Given the description of an element on the screen output the (x, y) to click on. 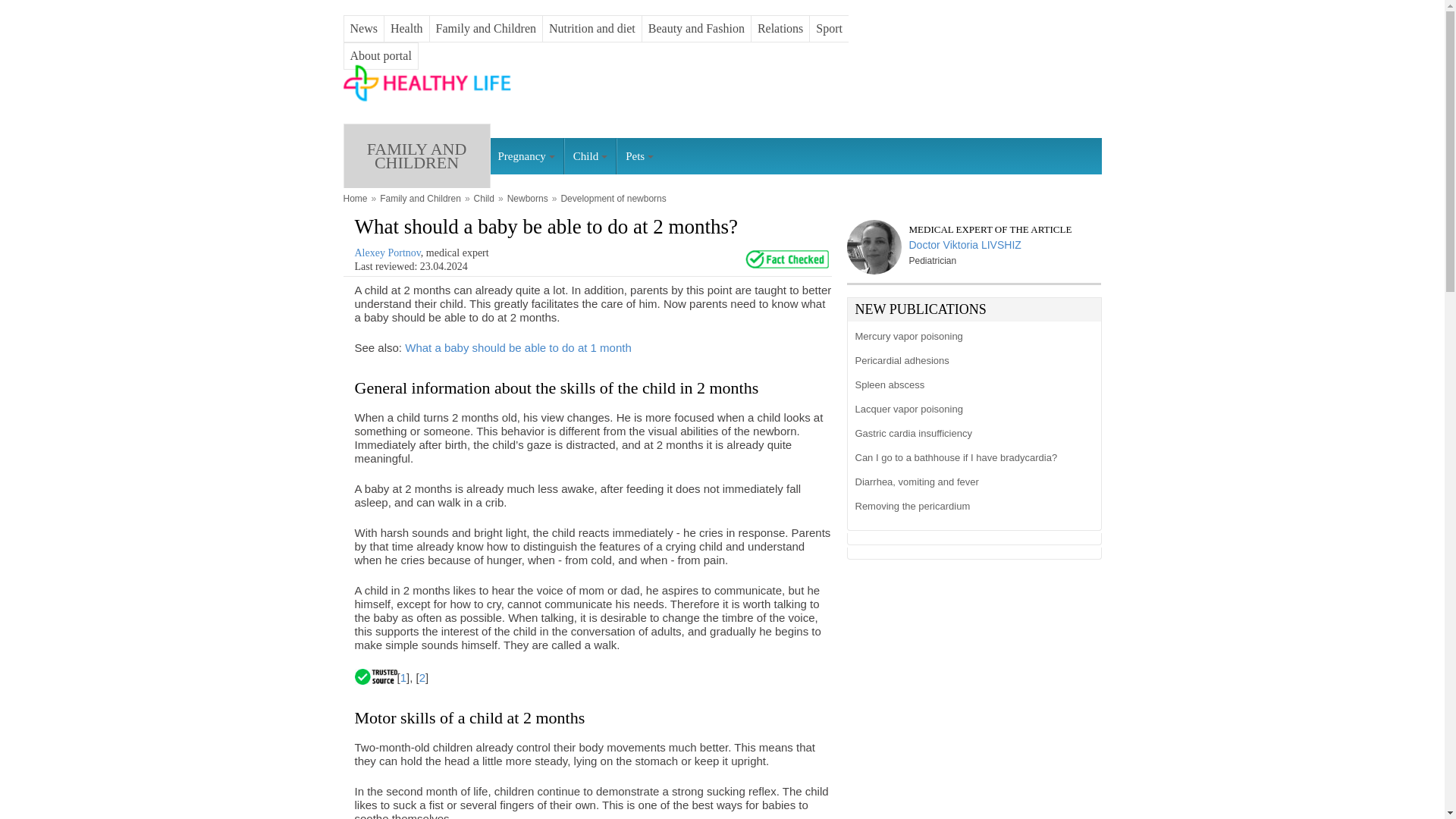
Pets (639, 156)
Development of newborns (612, 198)
Nutrition and diet (591, 28)
Relations (780, 28)
Home (354, 198)
Health (406, 28)
What a baby should be able to do at 1 month  (517, 345)
Sport (829, 28)
News (363, 28)
Newborns (527, 198)
Family and Children (420, 198)
